Given the description of an element on the screen output the (x, y) to click on. 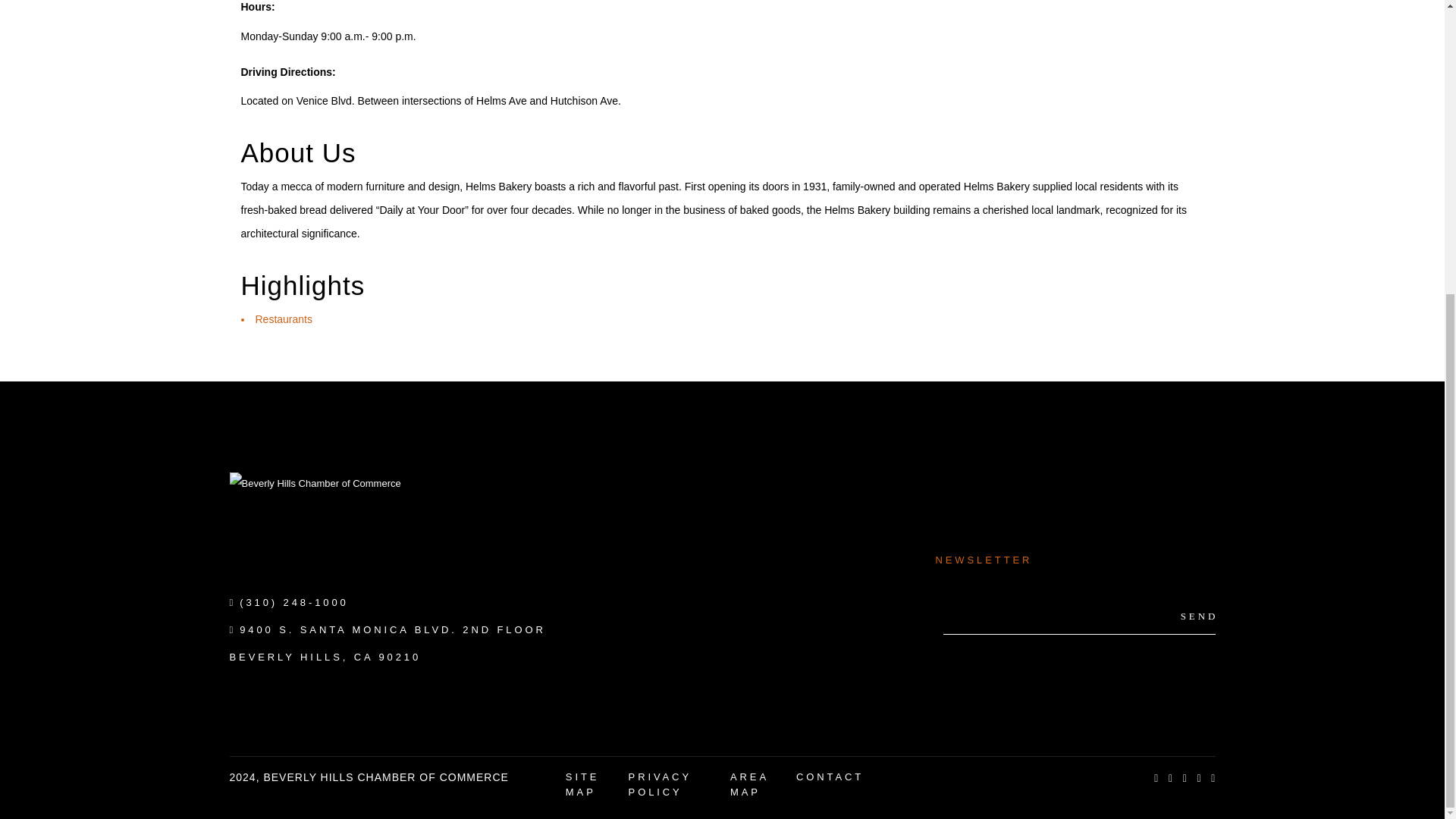
Beverly Hills Chamber of Commerce (342, 517)
